Given the description of an element on the screen output the (x, y) to click on. 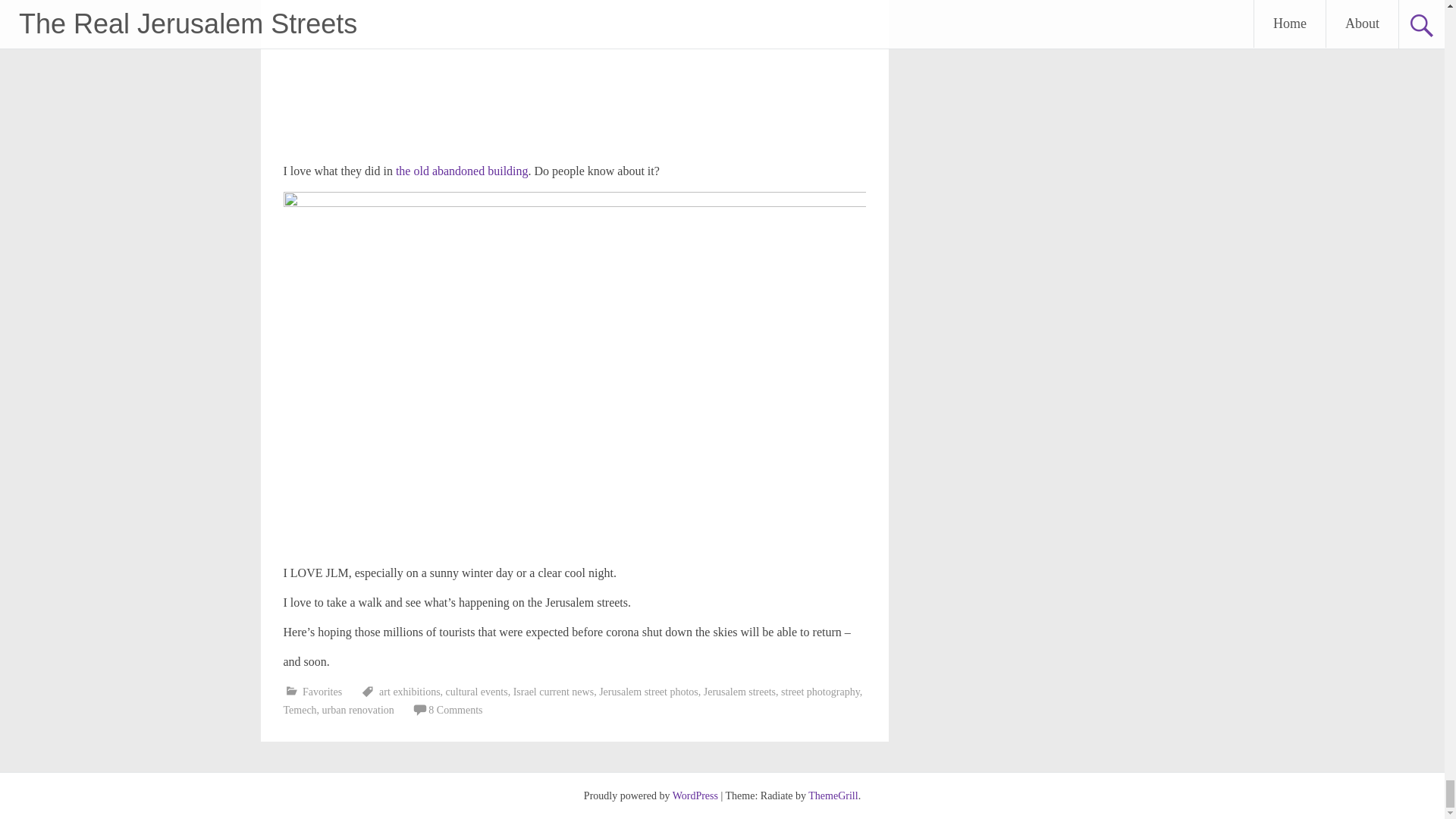
Favorites (322, 691)
Jerusalem street photos (648, 691)
cultural events (476, 691)
Israel current news (553, 691)
art exhibitions (409, 691)
the old abandoned building (460, 170)
street photography (820, 691)
Jerusalem streets (739, 691)
